Given the description of an element on the screen output the (x, y) to click on. 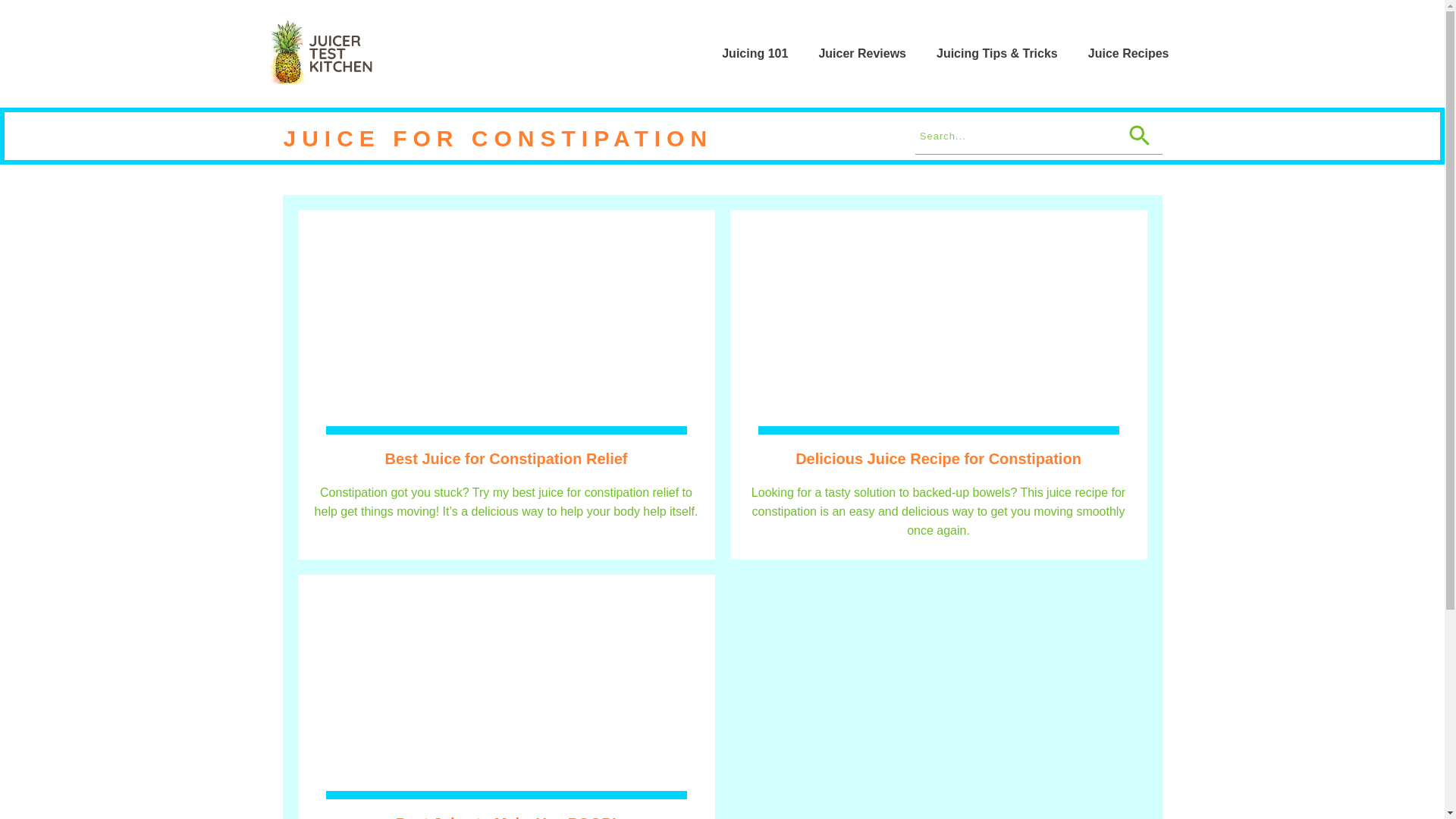
Best Juice for Constipation Relief (505, 458)
Best Juice to Make You POOP! (506, 816)
Juice Recipes (1128, 53)
Best Juice to Make You POOP! (506, 816)
Juicing 101 (754, 53)
Best Juice for Constipation Relief (505, 458)
Delicious Juice Recipe for Constipation (937, 458)
Juicer Reviews (861, 53)
Delicious Juice Recipe for Constipation (937, 458)
